Given the description of an element on the screen output the (x, y) to click on. 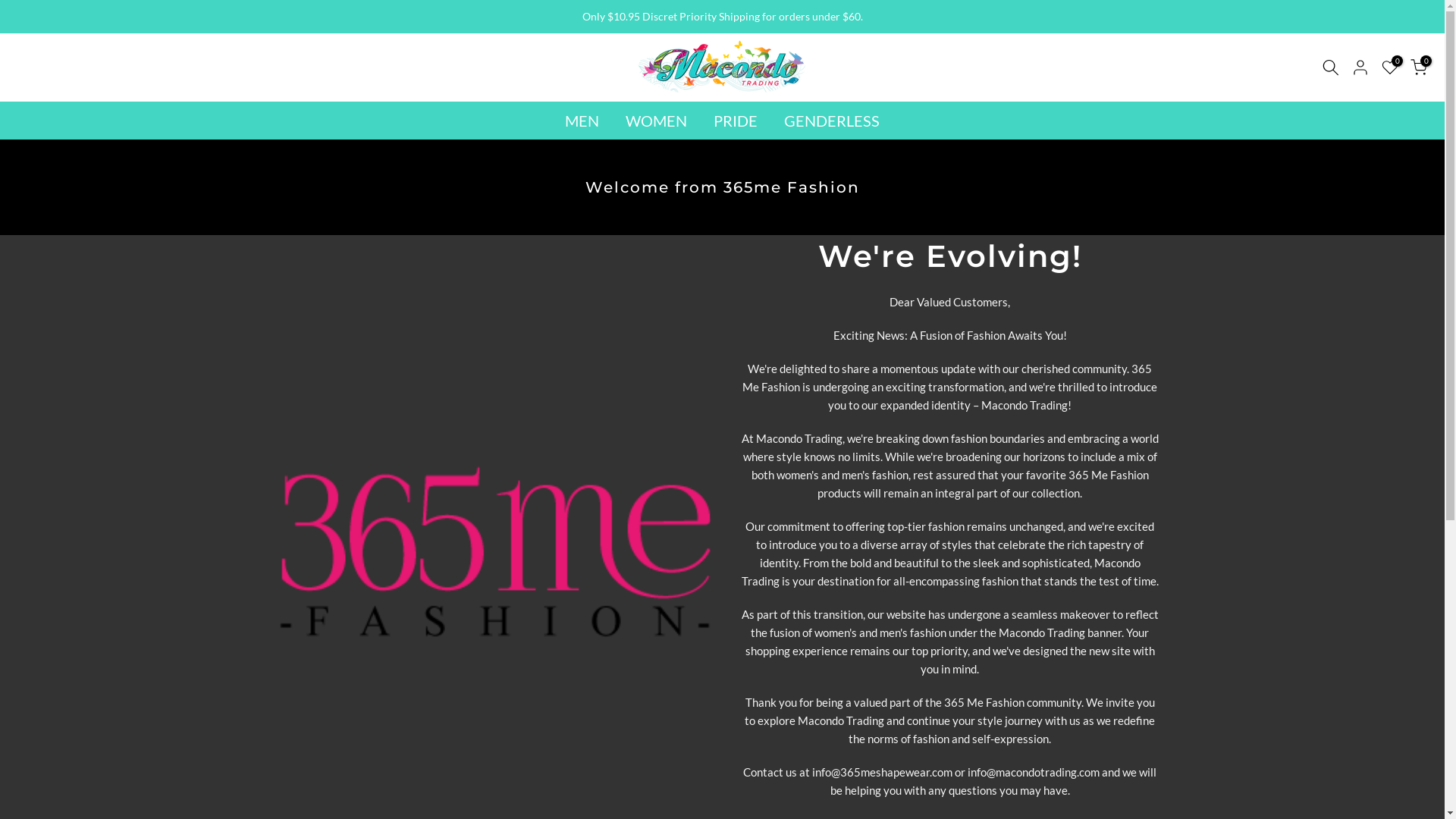
0 Element type: text (1418, 67)
GENDERLESS Element type: text (831, 120)
WOMEN Element type: text (656, 120)
0 Element type: text (1389, 67)
MEN Element type: text (582, 120)
PRIDE Element type: text (735, 120)
